Given the description of an element on the screen output the (x, y) to click on. 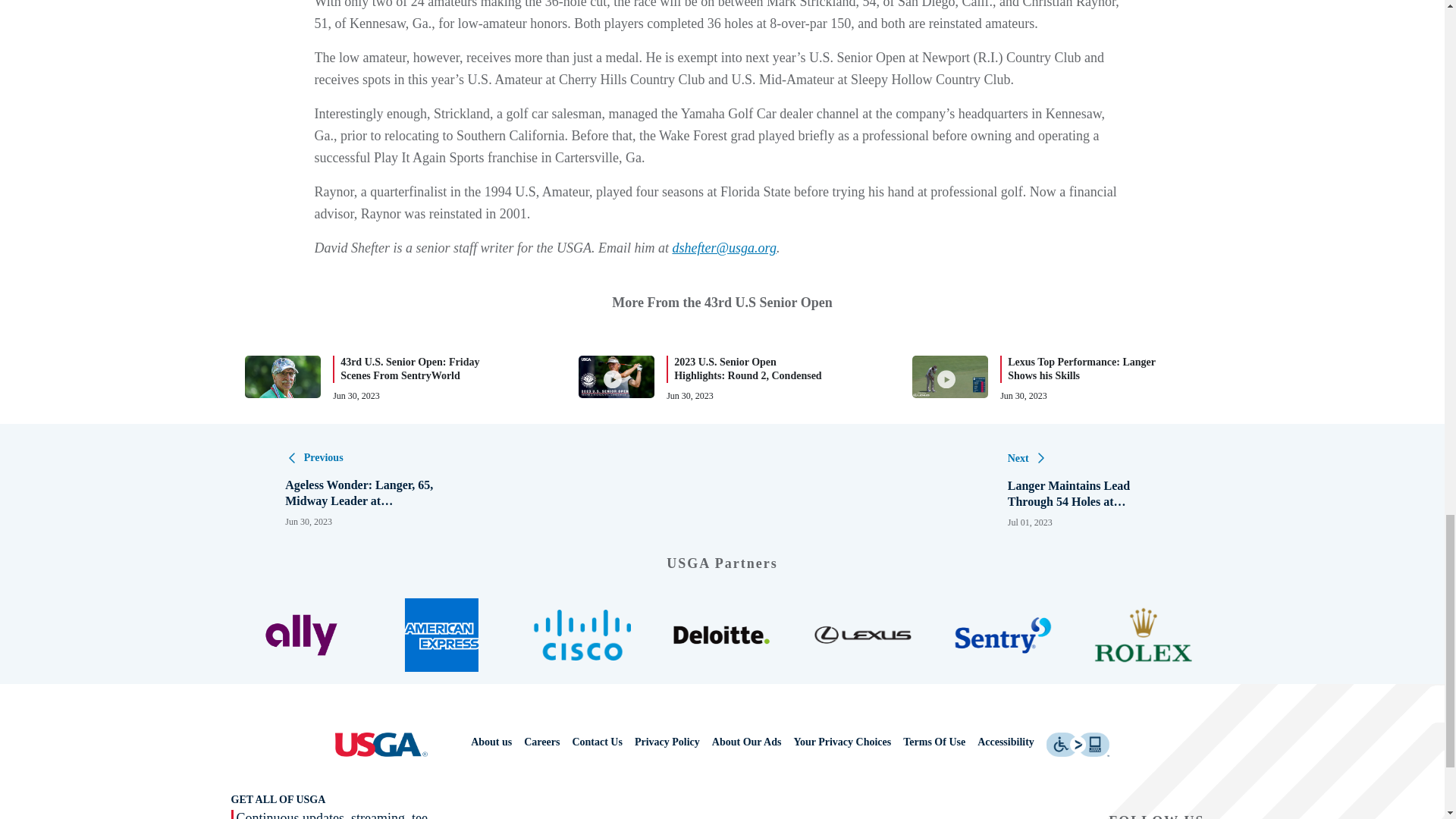
American Express (441, 634)
Deloitte (721, 634)
Ally (300, 635)
Lexus (862, 635)
